Given the description of an element on the screen output the (x, y) to click on. 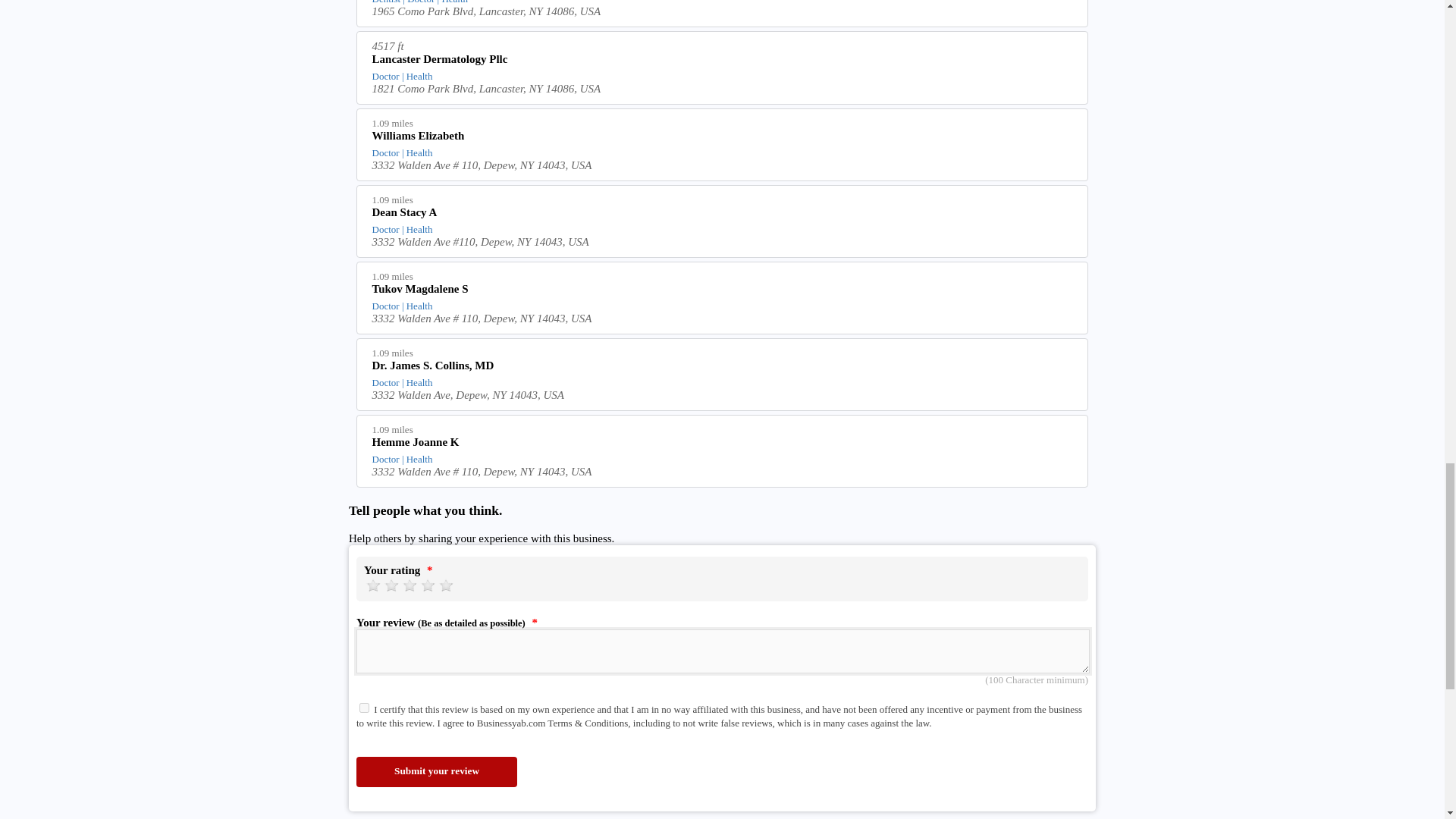
Tukov Magdalene S (722, 290)
Dean Stacy A (722, 214)
Lancaster Dermatology Pllc (722, 61)
Dr. James S. Collins, MD (722, 367)
Hemme Joanne K (722, 443)
true (364, 707)
Submit your review (436, 771)
Williams Elizabeth (722, 137)
